Given the description of an element on the screen output the (x, y) to click on. 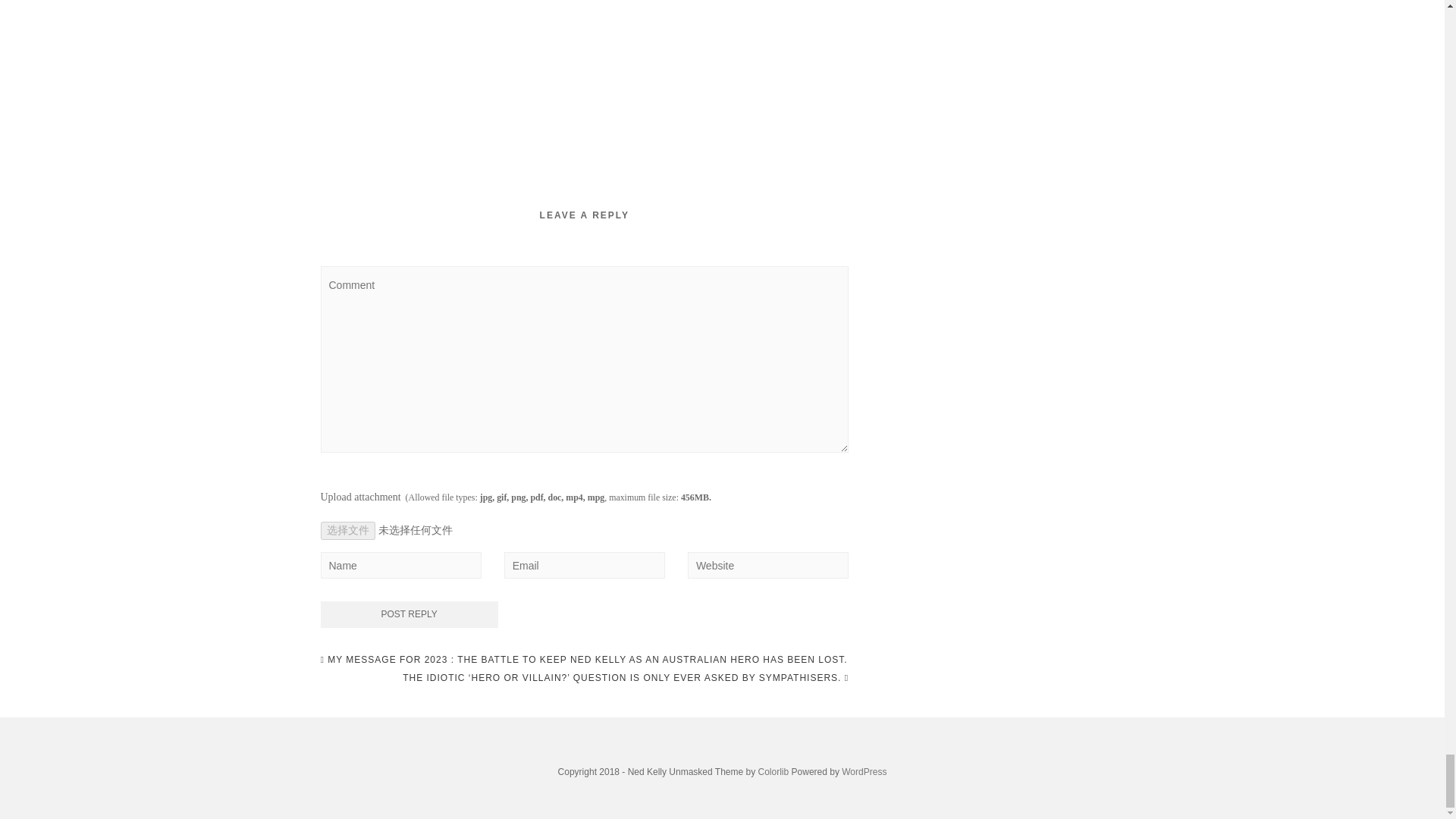
Download: Kelly-fart-sign.jpg (622, 58)
Post Reply (408, 614)
